Given the description of an element on the screen output the (x, y) to click on. 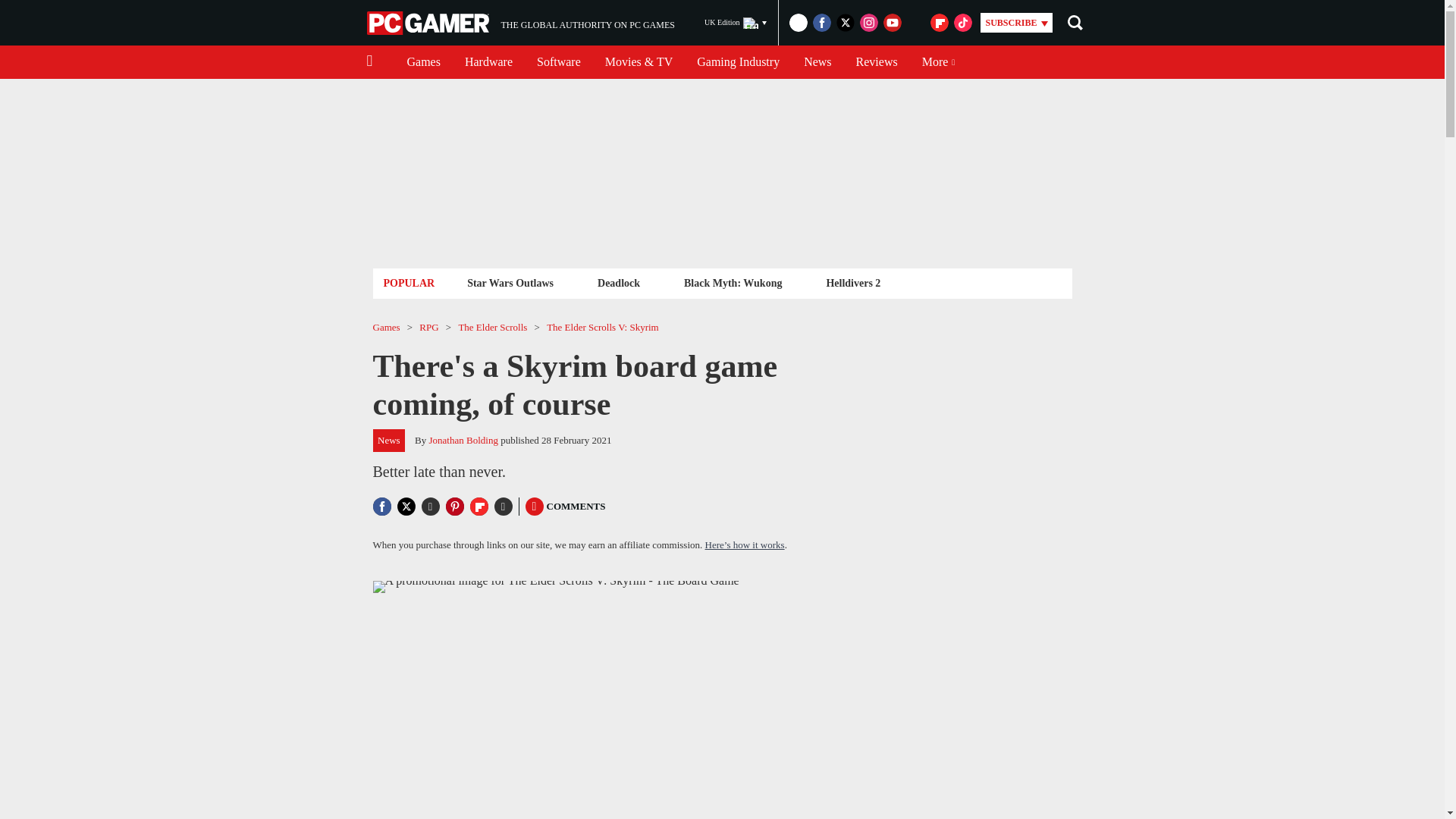
Star Wars Outlaws (510, 282)
Games (520, 22)
Deadlock (422, 61)
PC Gamer (618, 282)
Hardware (429, 22)
Software (488, 61)
Reviews (558, 61)
UK Edition (877, 61)
Gaming Industry (735, 22)
